Given the description of an element on the screen output the (x, y) to click on. 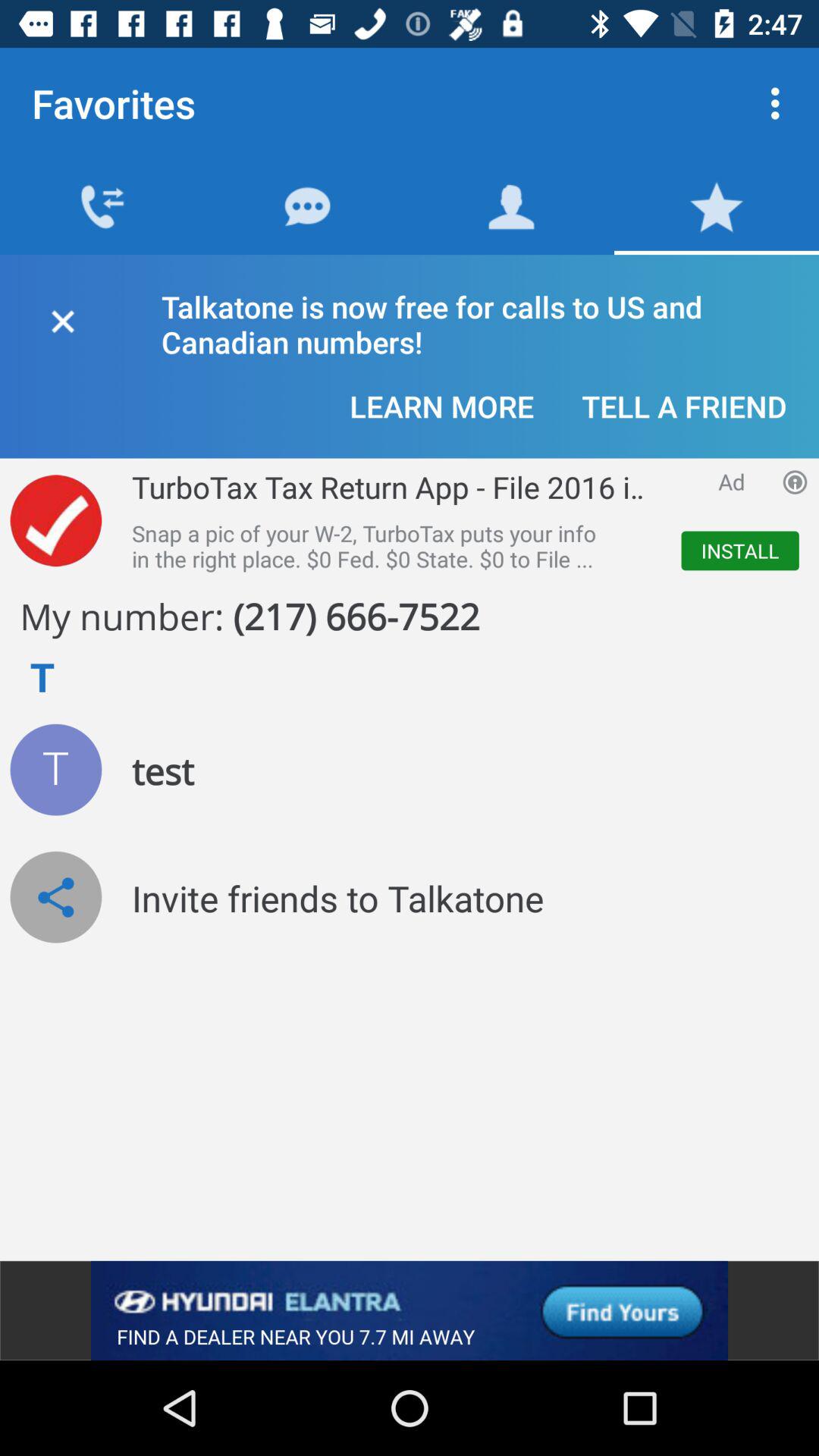
select advertisement (409, 1310)
